Given the description of an element on the screen output the (x, y) to click on. 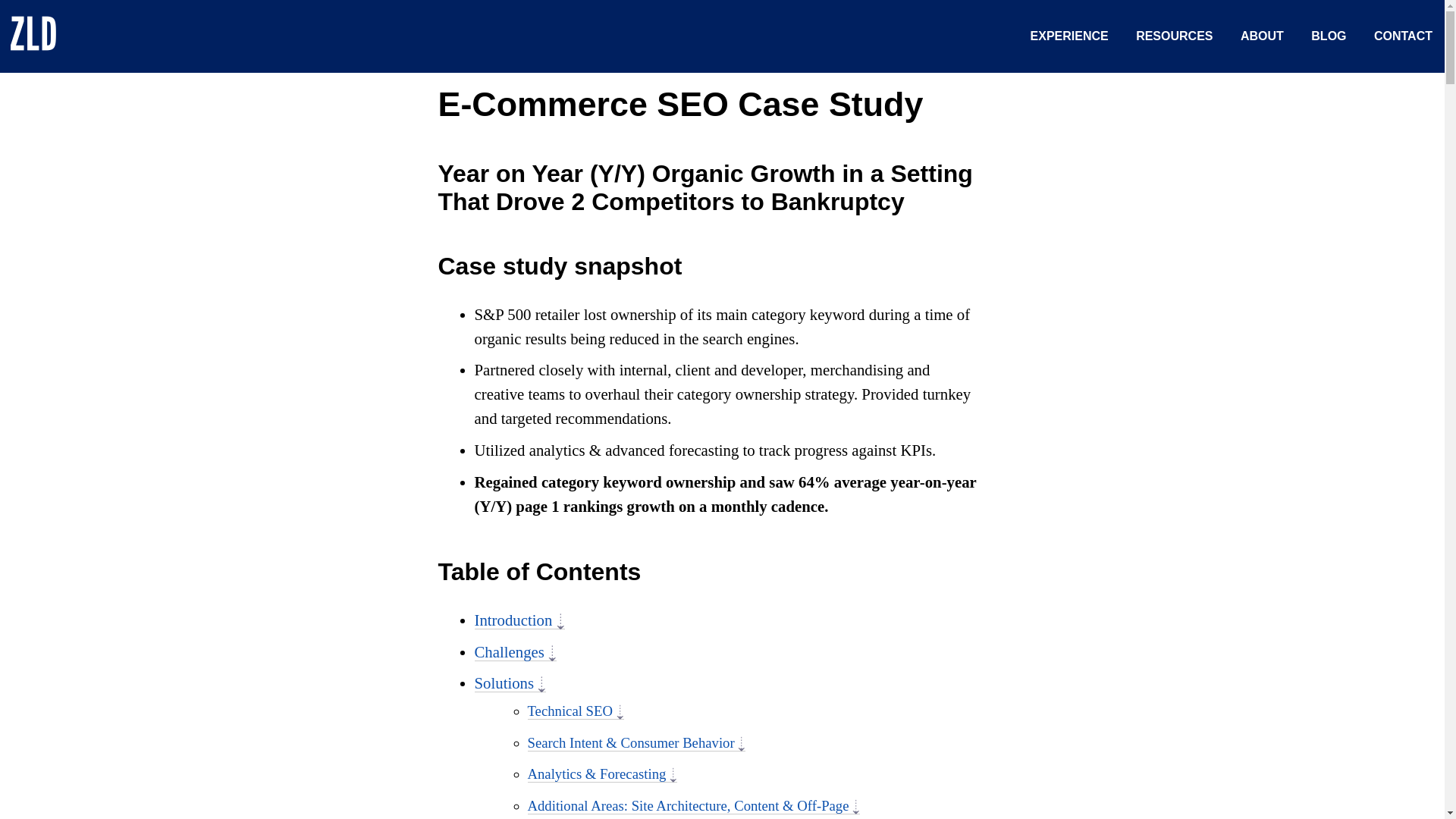
RESOURCES (1173, 35)
BLOG (1328, 35)
Solutions (510, 683)
EXPERIENCE (1069, 35)
CONTACT (1403, 35)
ABOUT (1262, 35)
Challenges (515, 651)
Technical SEO (575, 710)
Introduction (519, 619)
